Given the description of an element on the screen output the (x, y) to click on. 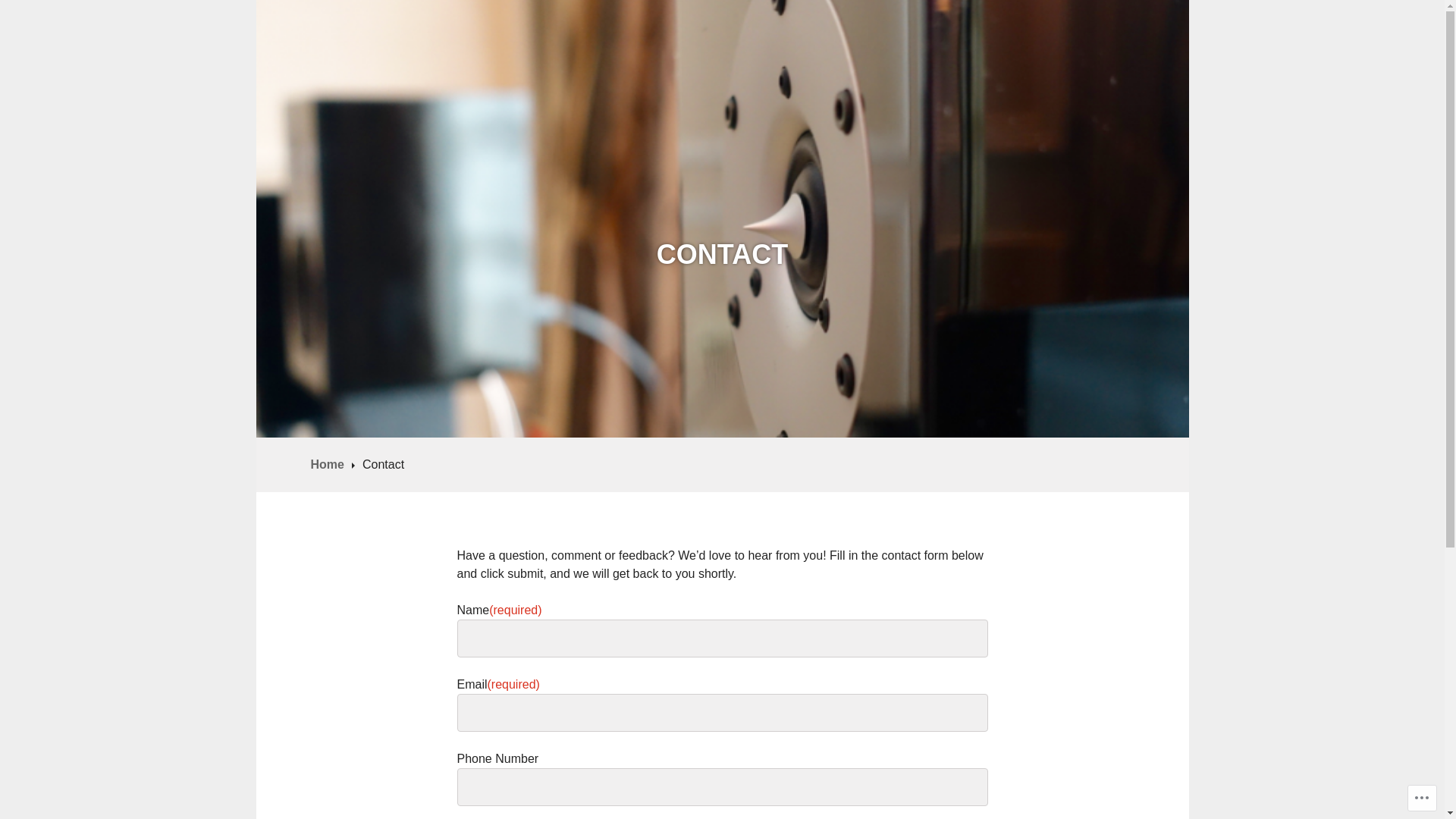
Home Element type: text (332, 464)
